Given the description of an element on the screen output the (x, y) to click on. 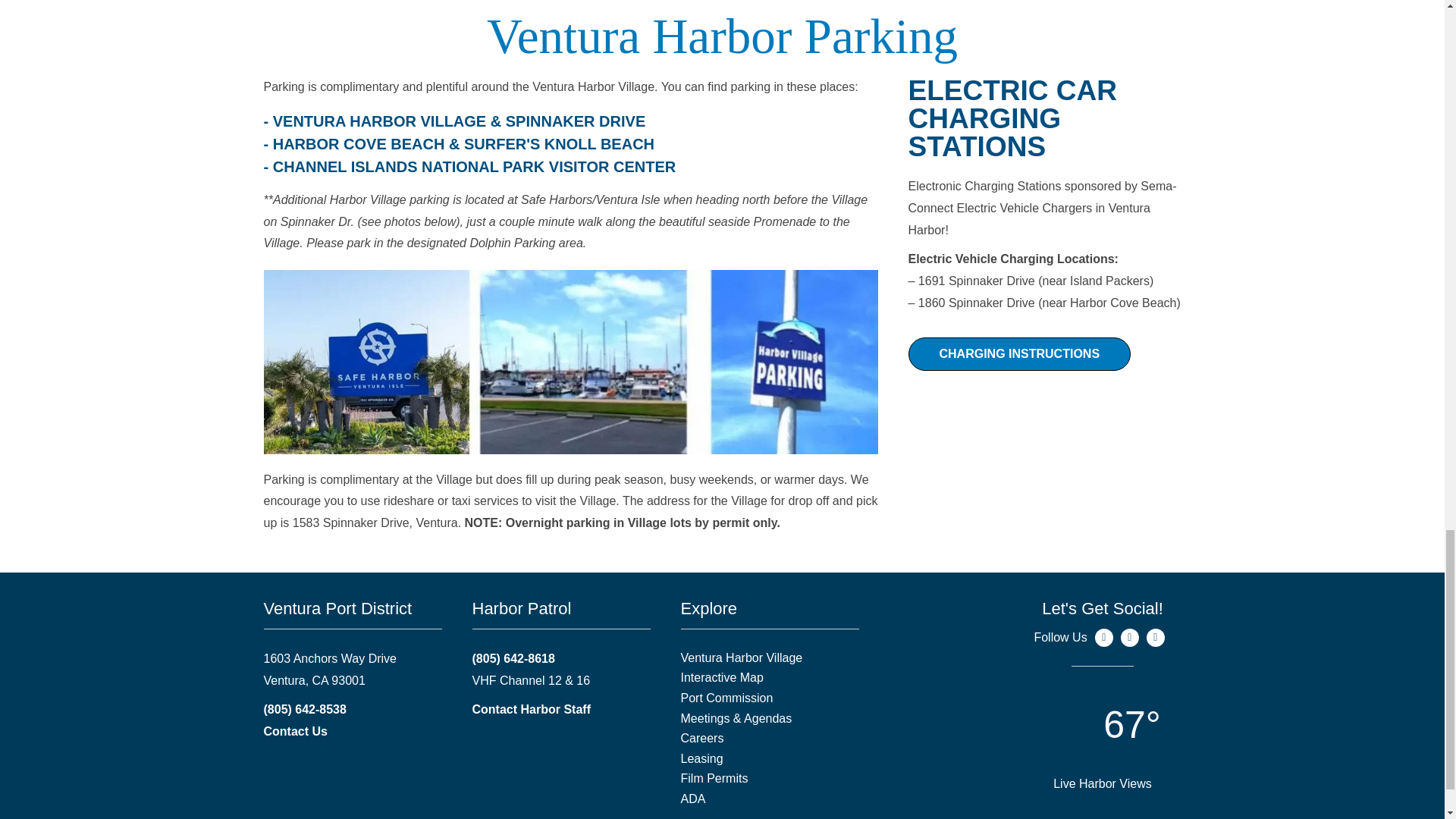
parking (570, 362)
